Given the description of an element on the screen output the (x, y) to click on. 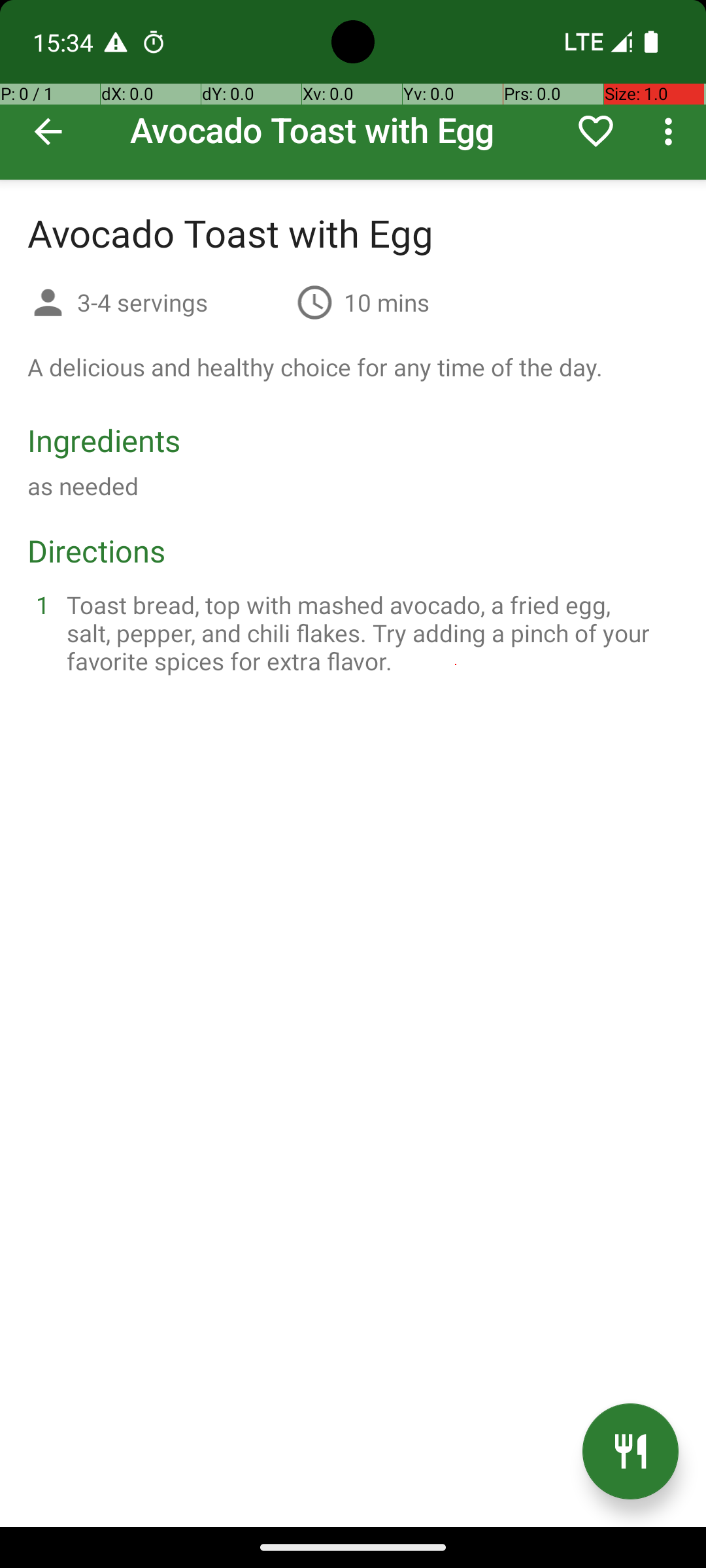
3-4 servings Element type: android.widget.TextView (181, 301)
10 mins Element type: android.widget.TextView (386, 301)
as needed Element type: android.widget.TextView (82, 485)
Toast bread, top with mashed avocado, a fried egg, salt, pepper, and chili flakes. Try adding a pinch of your favorite spices for extra flavor. Element type: android.widget.TextView (368, 632)
